Given the description of an element on the screen output the (x, y) to click on. 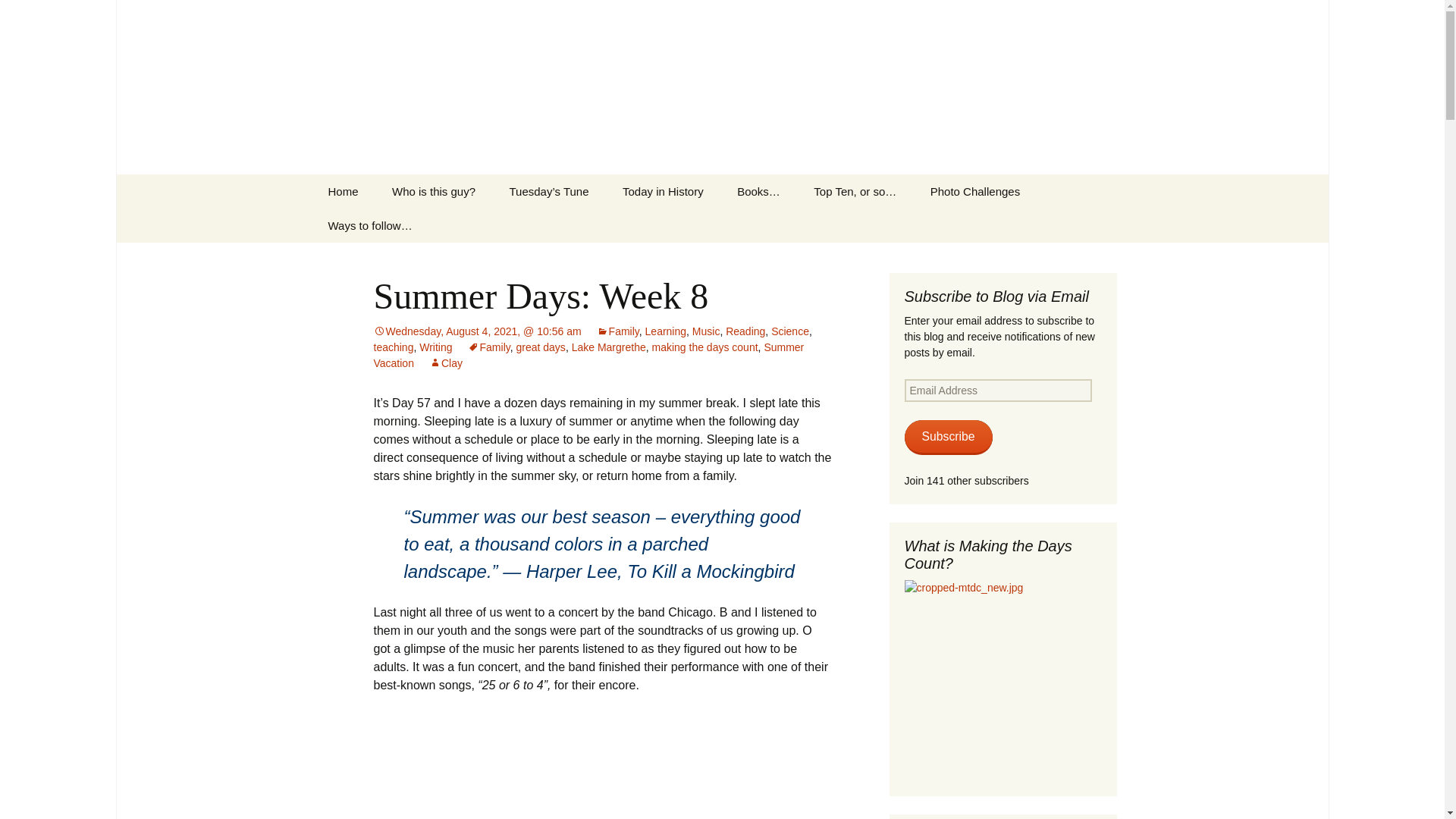
teaching (392, 346)
View all posts by Clay (446, 363)
Summer Vacation (587, 355)
Personal Reading (797, 225)
Learning (666, 331)
Search (18, 15)
Lake Margrethe (609, 346)
great days (539, 346)
Who is this guy? (433, 191)
